Given the description of an element on the screen output the (x, y) to click on. 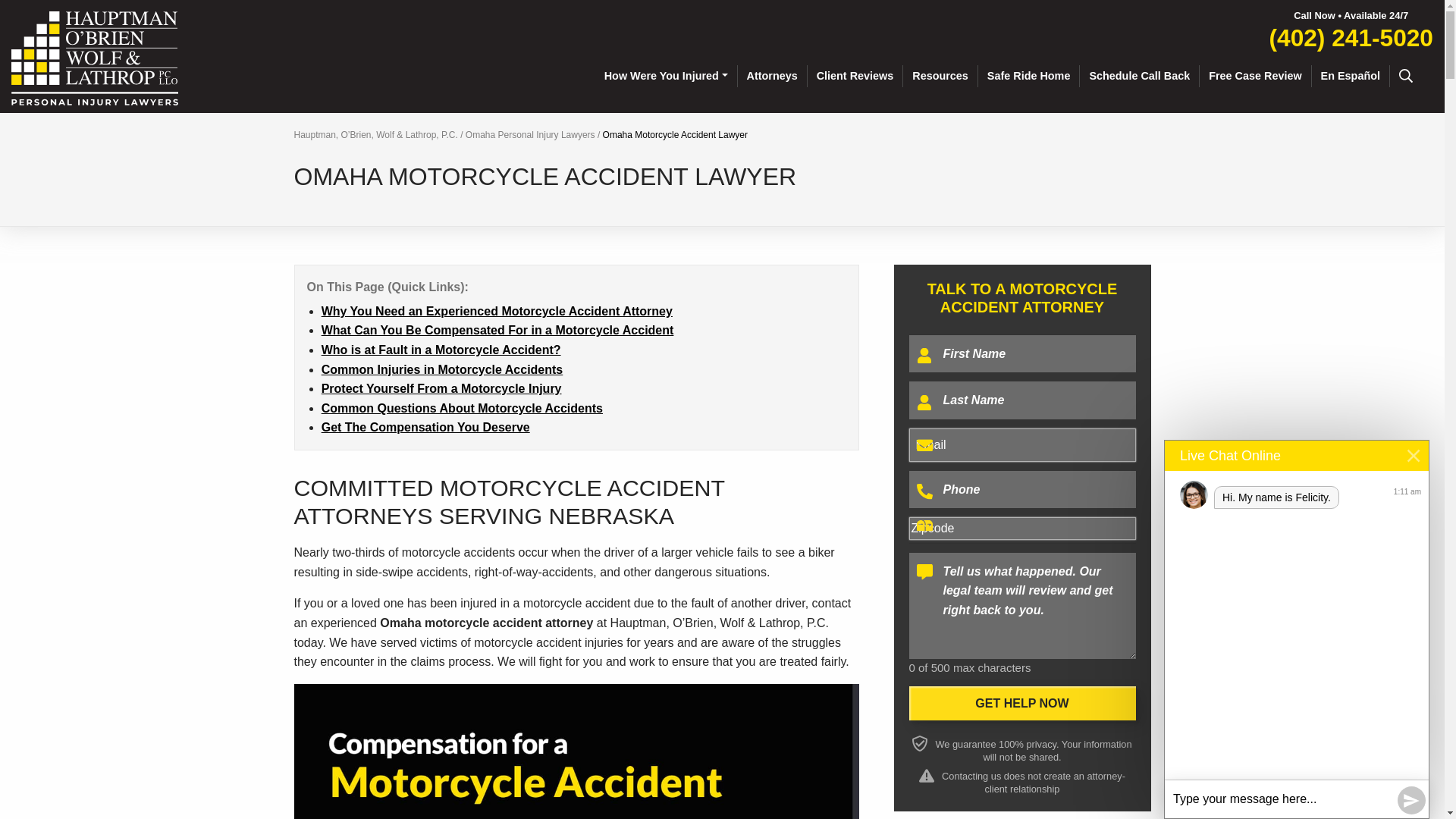
Get Help Now (1021, 703)
Schedule Call Back (1139, 75)
Attorneys (773, 75)
Resources (940, 75)
Safe Ride Home (1029, 75)
How Were You Injured (666, 75)
Free Case Review (1255, 75)
Client Reviews (856, 75)
